Given the description of an element on the screen output the (x, y) to click on. 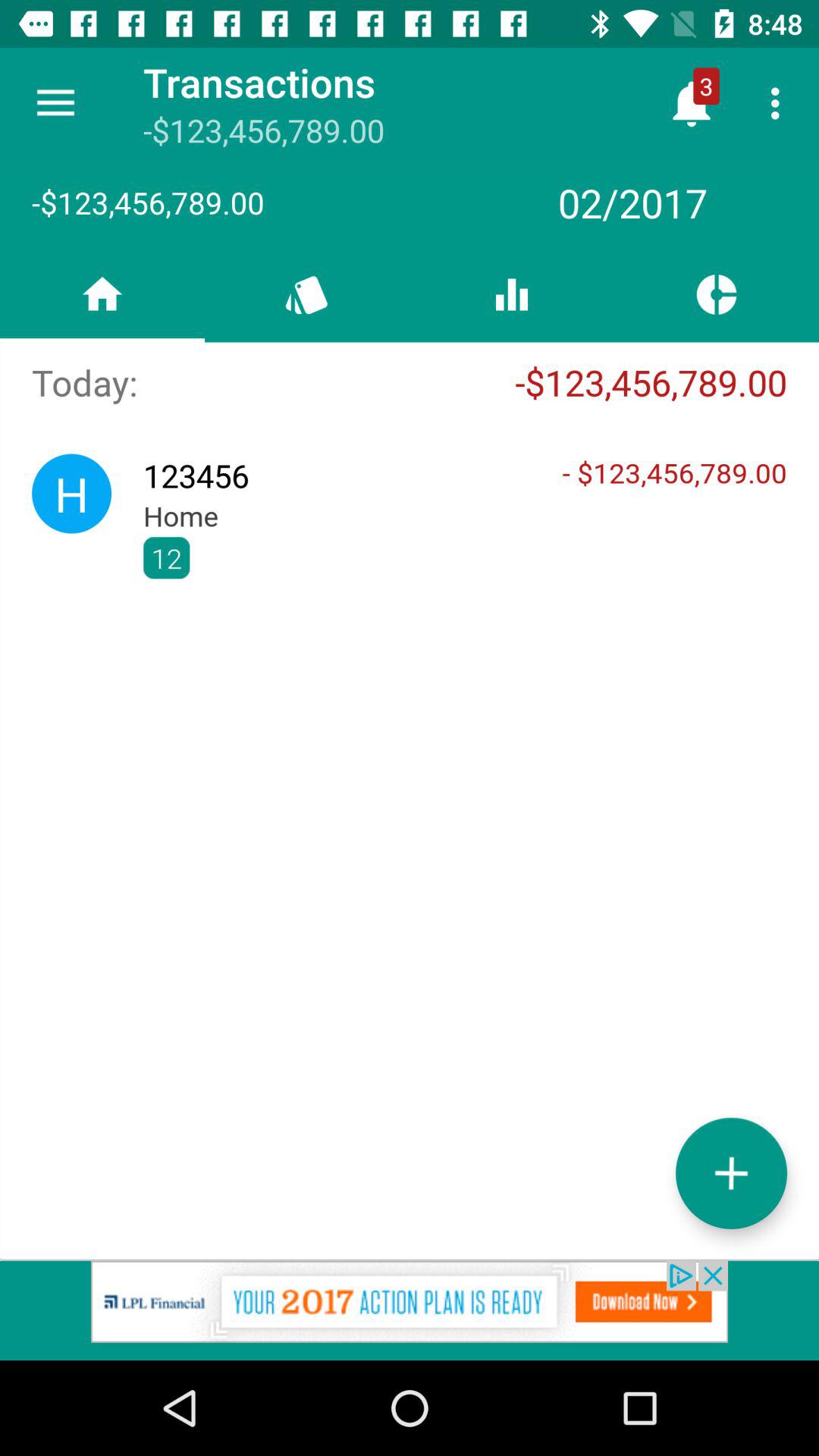
add a transaction (731, 1173)
